Given the description of an element on the screen output the (x, y) to click on. 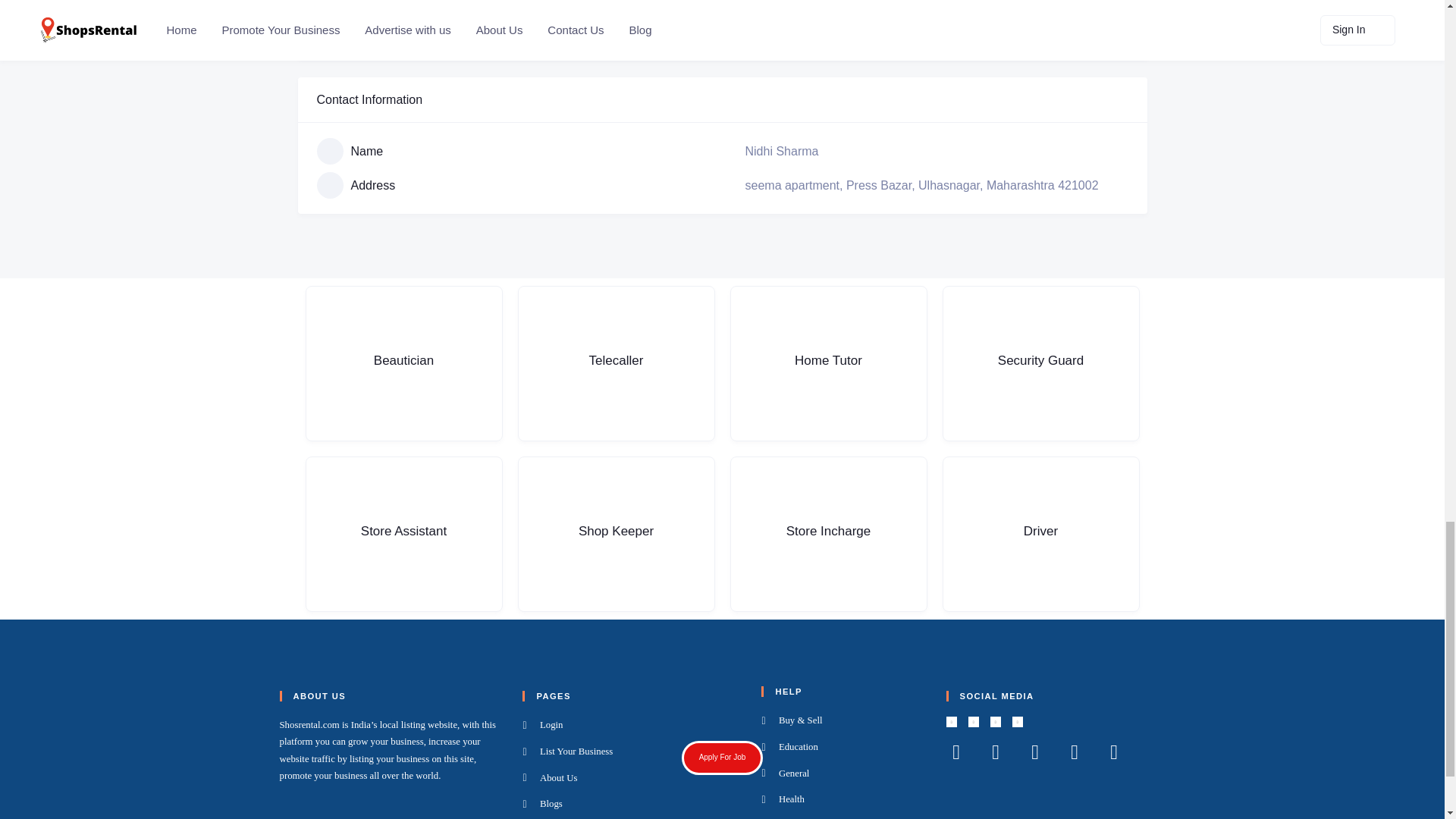
Beautician (403, 363)
Education (843, 747)
Driver (1040, 533)
Security Guard (1040, 363)
About Us (631, 778)
Health (843, 800)
List Your Business (631, 751)
Store Incharge (827, 533)
Login (631, 725)
Shop Keeper (615, 533)
Home Tutor (827, 363)
Store Assistant (403, 533)
Blogs (631, 804)
Telecaller (615, 363)
